Given the description of an element on the screen output the (x, y) to click on. 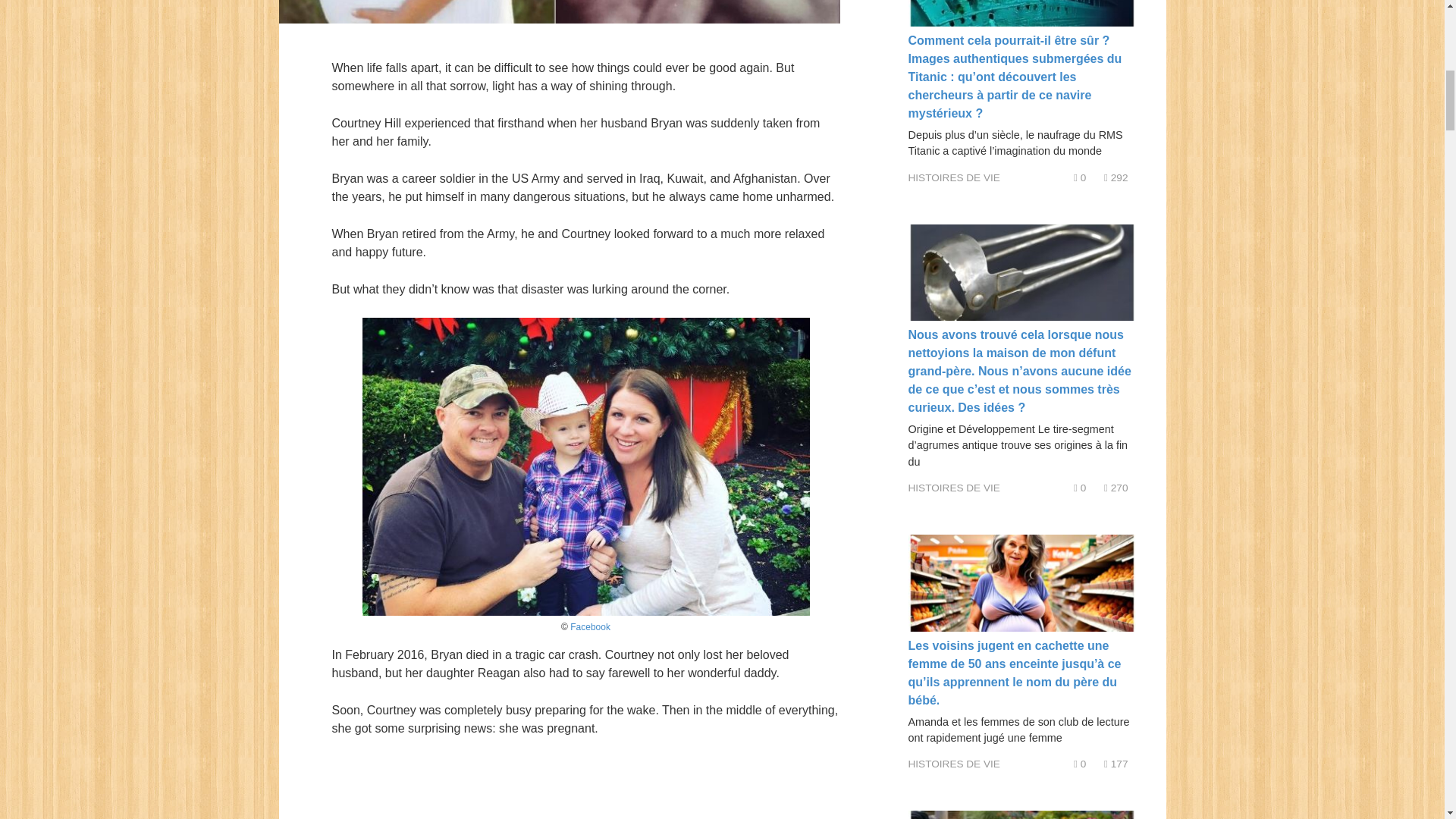
Advertisement (585, 787)
Facebook (590, 626)
HISTOIRES DE VIE (954, 176)
